Given the description of an element on the screen output the (x, y) to click on. 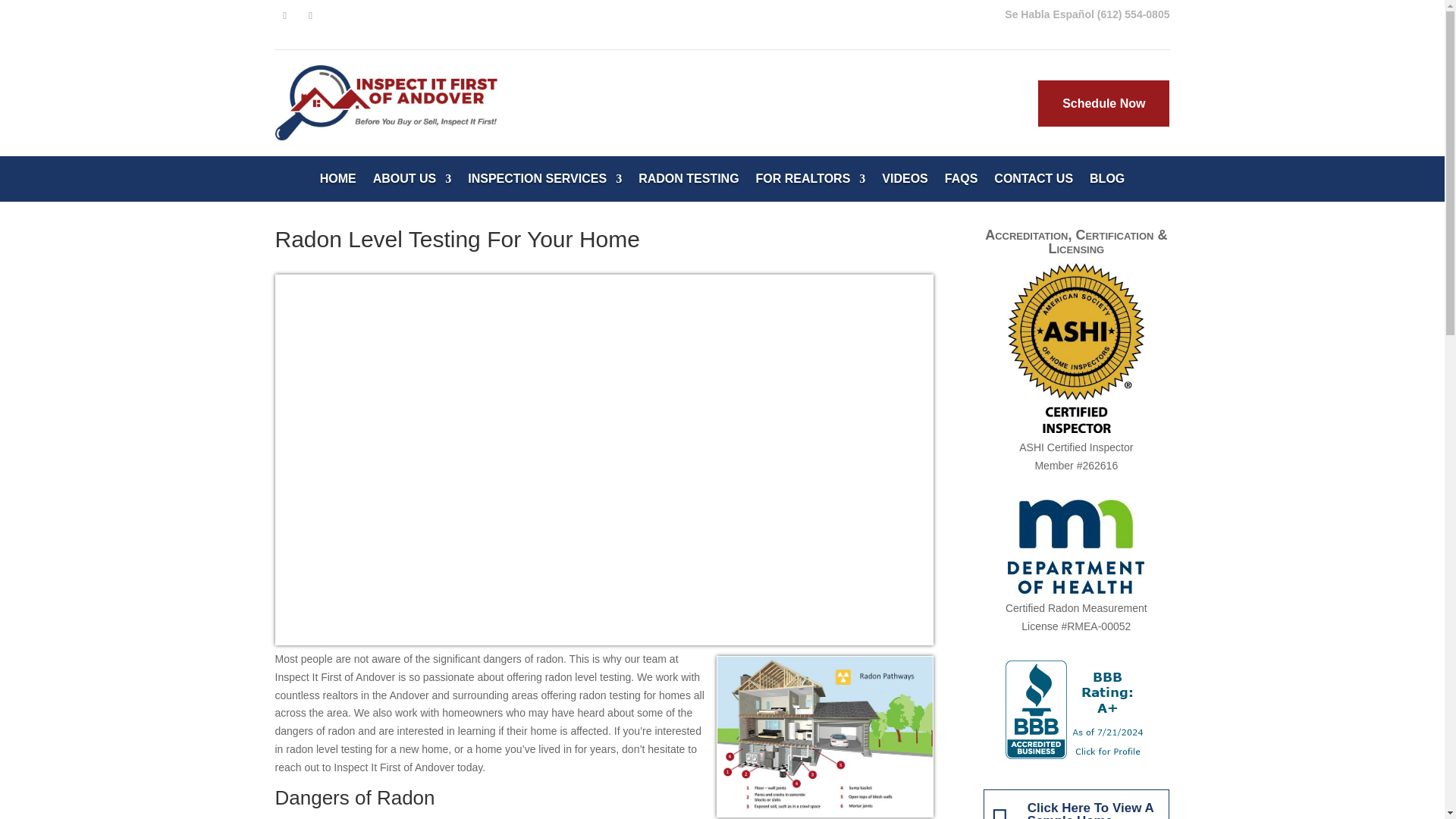
Follow on Facebook (284, 15)
VIDEOS (904, 182)
FAQS (961, 182)
ABOUT US (411, 182)
HOME (338, 182)
BLOG (1106, 182)
FOR REALTORS (810, 182)
RADON TESTING (688, 182)
INSPECTION SERVICES (544, 182)
Follow on LinkedIn (309, 15)
CONTACT US (1033, 182)
Schedule Now (1103, 103)
